Given the description of an element on the screen output the (x, y) to click on. 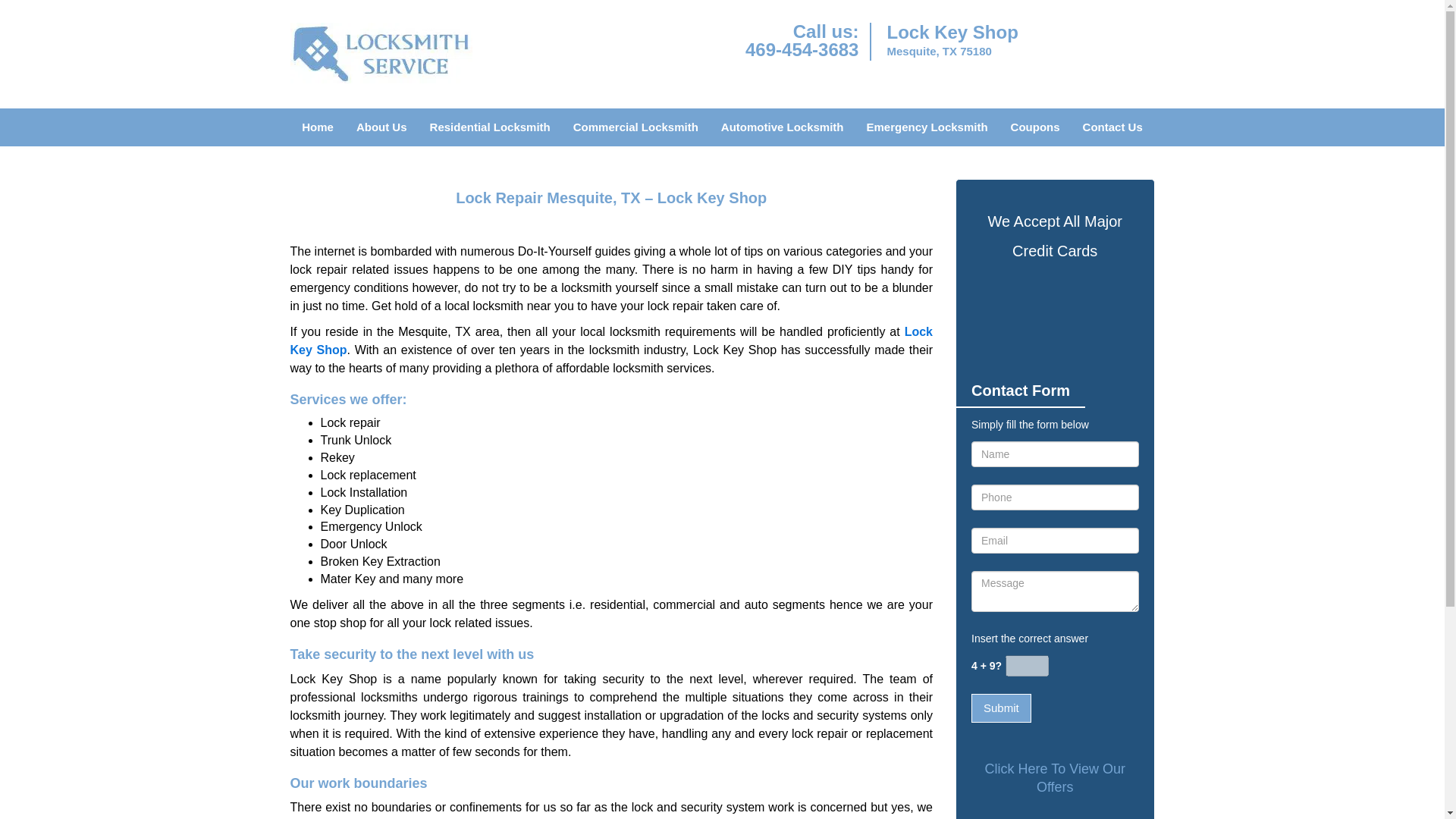
Residential Locksmith (490, 127)
Commercial Locksmith (636, 127)
Message Field require (1054, 590)
Emergency Locksmith (927, 127)
Coupons (1034, 127)
Name Field required (1054, 453)
469-454-3683 (802, 49)
Contact Us (1112, 127)
Automotive Locksmith (783, 127)
Click Here To View Our Offers (1054, 778)
Submit (1000, 707)
About Us (382, 127)
Home (317, 127)
Submit (1000, 707)
Lock Key Shop (611, 340)
